Given the description of an element on the screen output the (x, y) to click on. 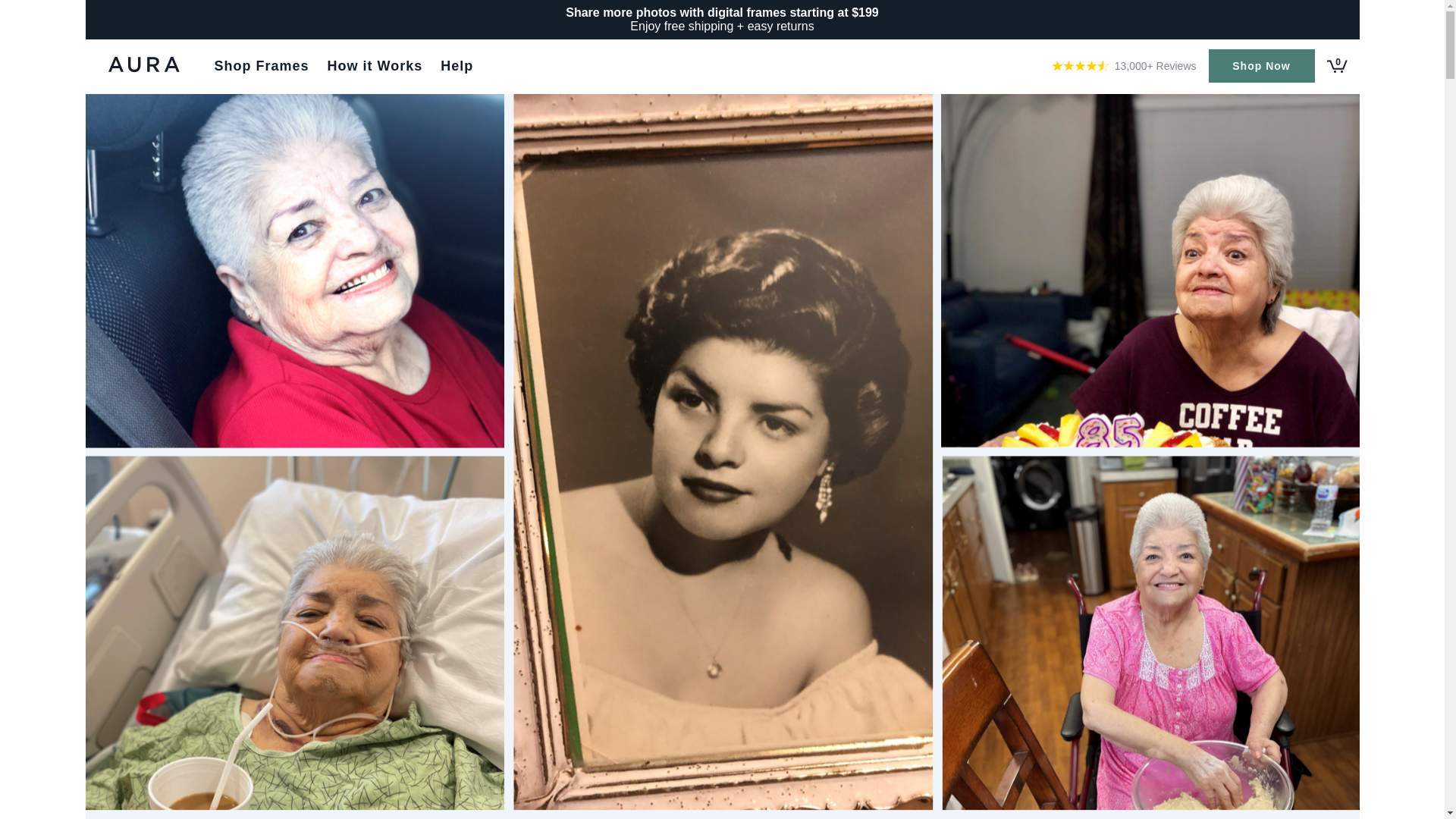
Help (457, 65)
How it Works (375, 65)
Shop Now (1261, 65)
Shop Frames (261, 65)
